Given the description of an element on the screen output the (x, y) to click on. 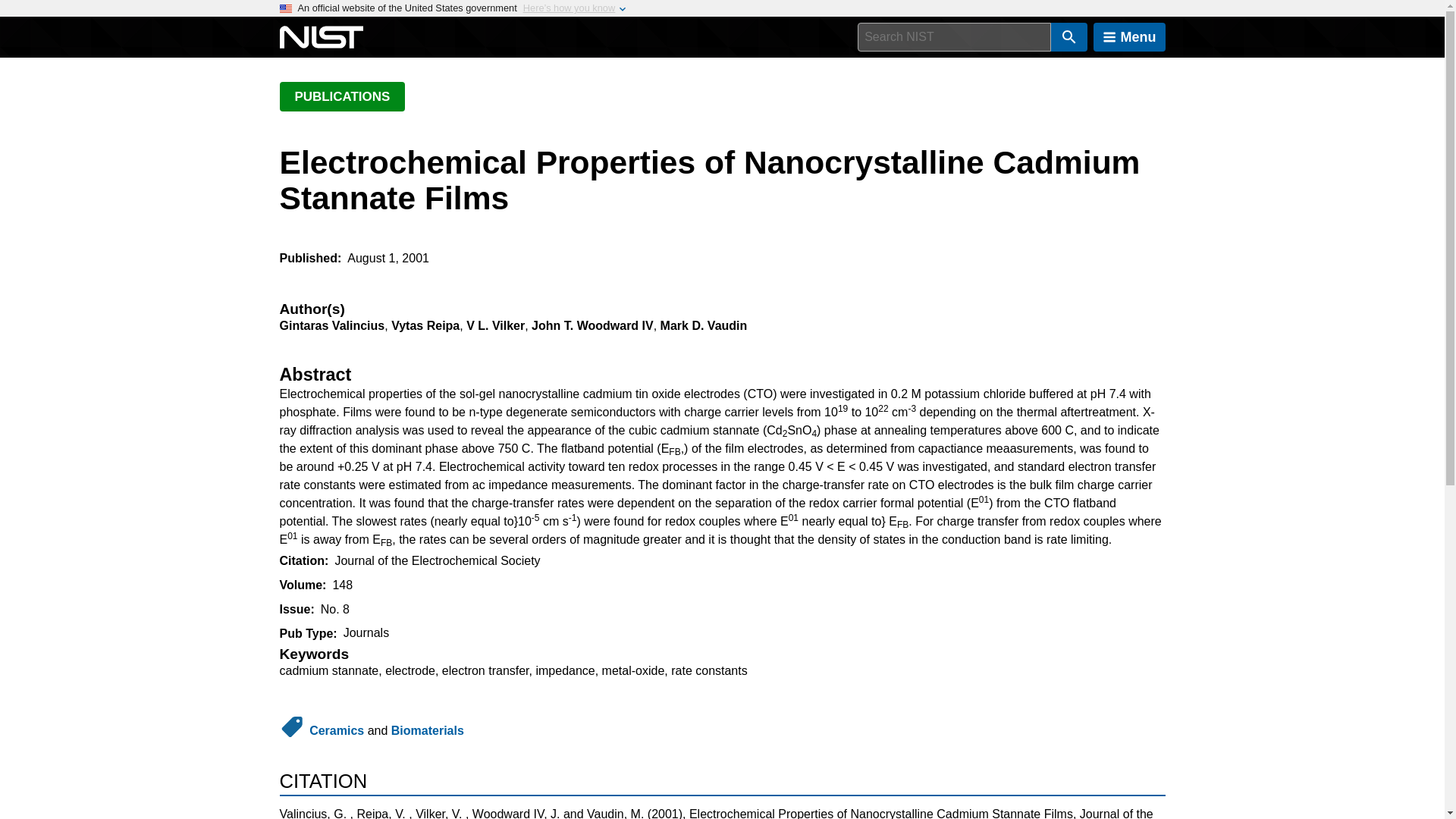
Ceramics (336, 730)
Menu (1129, 36)
PUBLICATIONS (341, 96)
National Institute of Standards and Technology (320, 36)
Biomaterials (427, 730)
